Given the description of an element on the screen output the (x, y) to click on. 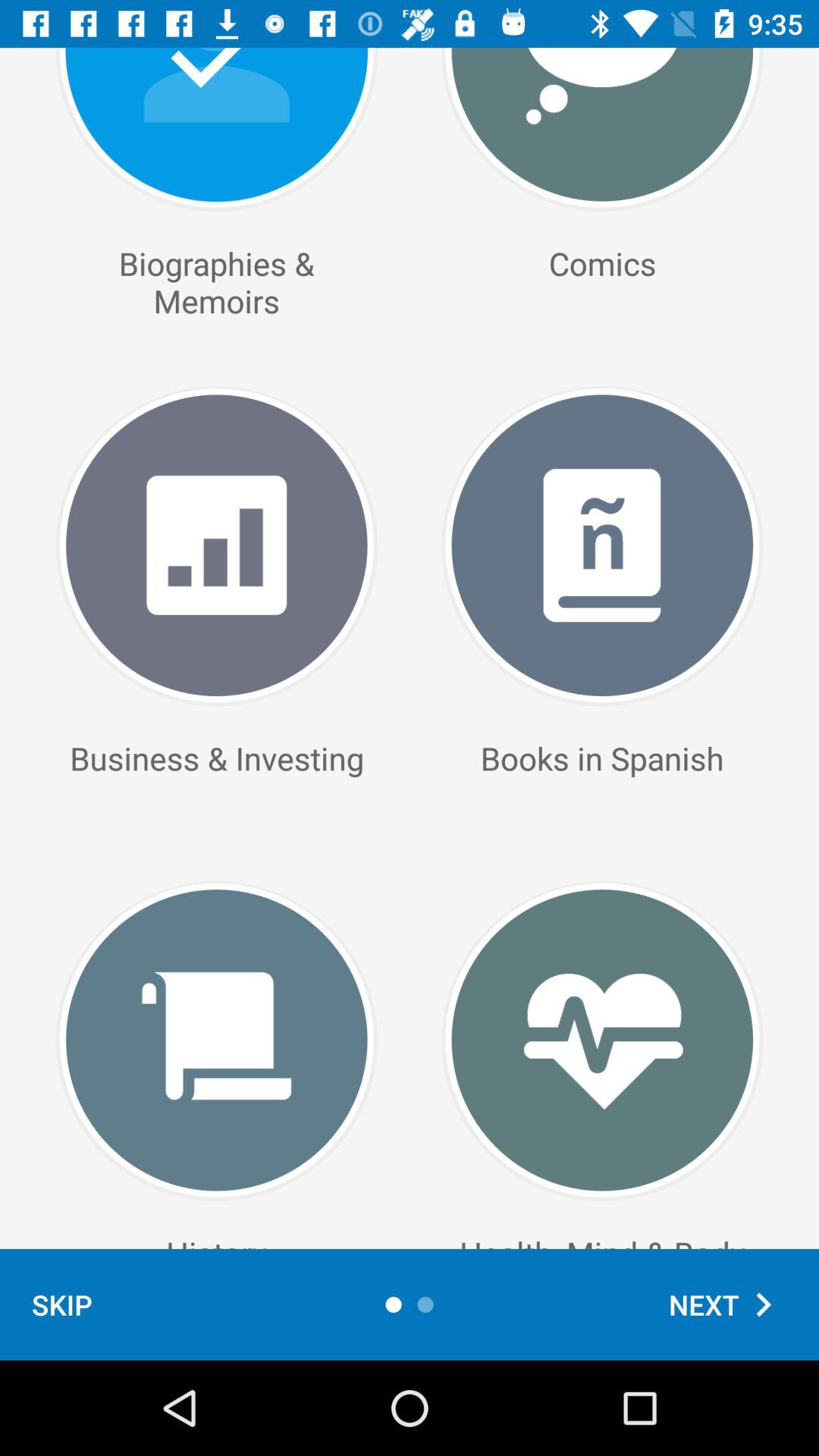
turn off next (728, 1304)
